Given the description of an element on the screen output the (x, y) to click on. 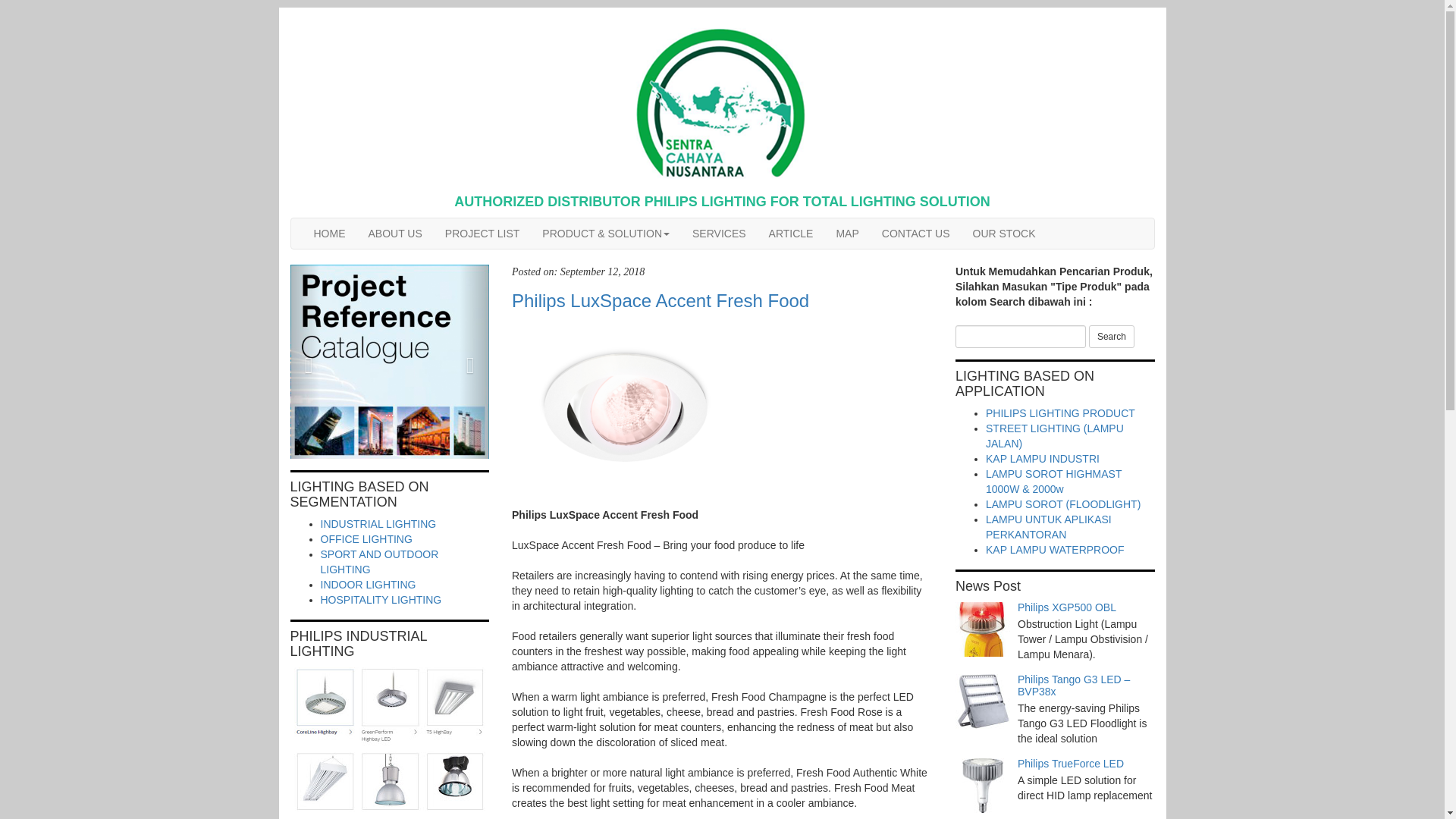
ABOUT US (394, 233)
CONTACT US (915, 233)
OUR STOCK (1003, 233)
INDOOR LIGHTING (367, 584)
Search (1111, 336)
Philips TrueForce LED (1070, 763)
HOSPITALITY LIGHTING (380, 599)
PROJECT LIST (482, 233)
Philips LuxSpace Accent Fresh Food (722, 301)
KAP LAMPU WATERPROOF (1054, 549)
